Given the description of an element on the screen output the (x, y) to click on. 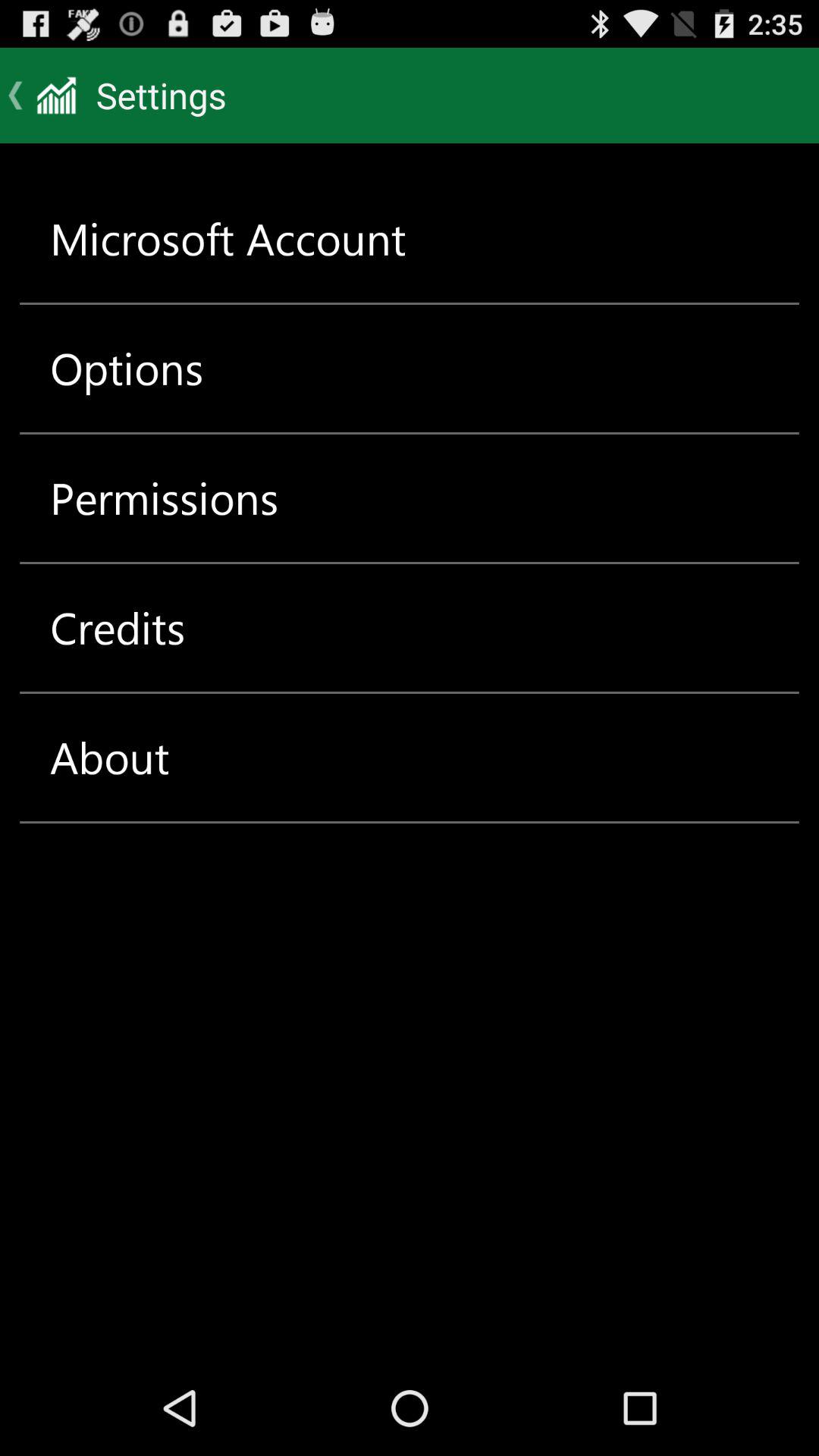
open the permissions item (164, 497)
